Given the description of an element on the screen output the (x, y) to click on. 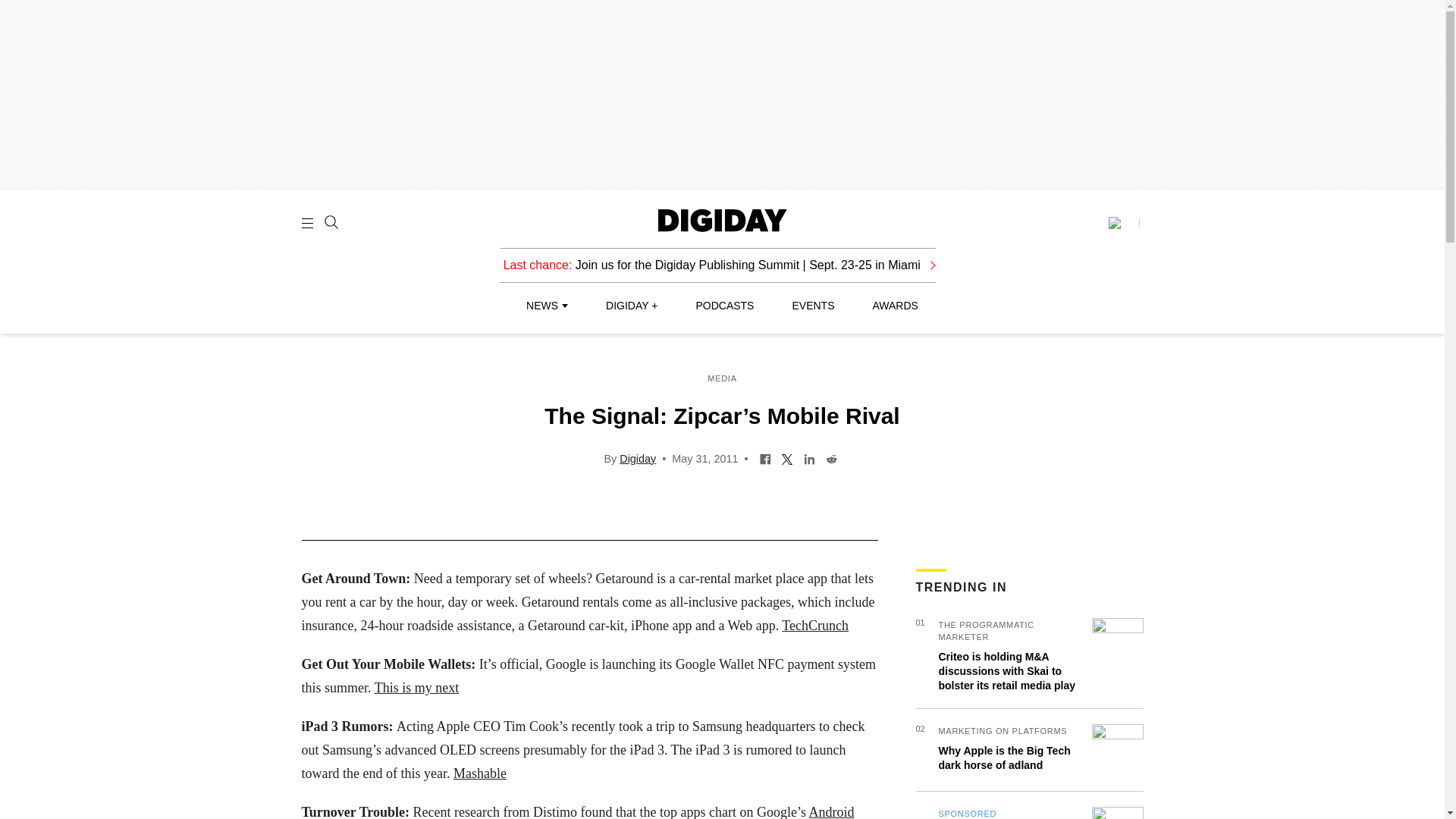
Share on Twitter (786, 458)
EVENTS (813, 305)
Why Apple is the Big Tech dark horse of adland (1004, 757)
AWARDS (894, 305)
NEWS (546, 305)
Subscribe (1123, 223)
Share on Facebook (764, 458)
Share on Reddit (831, 458)
Share on LinkedIn (809, 458)
PODCASTS (725, 305)
